Given the description of an element on the screen output the (x, y) to click on. 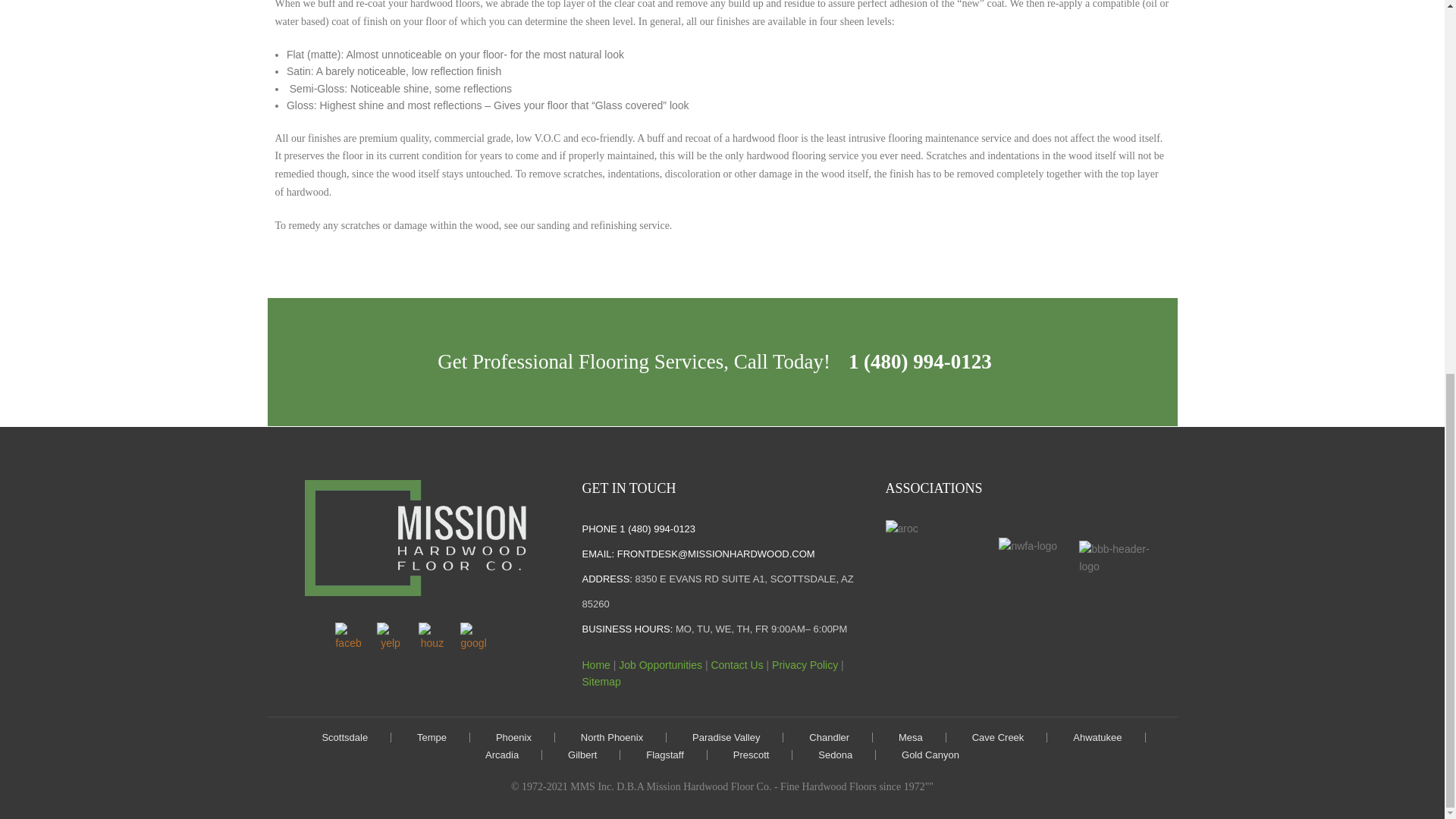
Job Opportunities (659, 664)
Chandler (828, 737)
Scottsdale (344, 737)
Tempe (431, 737)
Privacy Policy (804, 664)
Phoenix (513, 737)
Home (595, 664)
Sitemap (600, 681)
Paradise Valley (726, 737)
Contact Us (736, 664)
North Phoenix (611, 737)
